Given the description of an element on the screen output the (x, y) to click on. 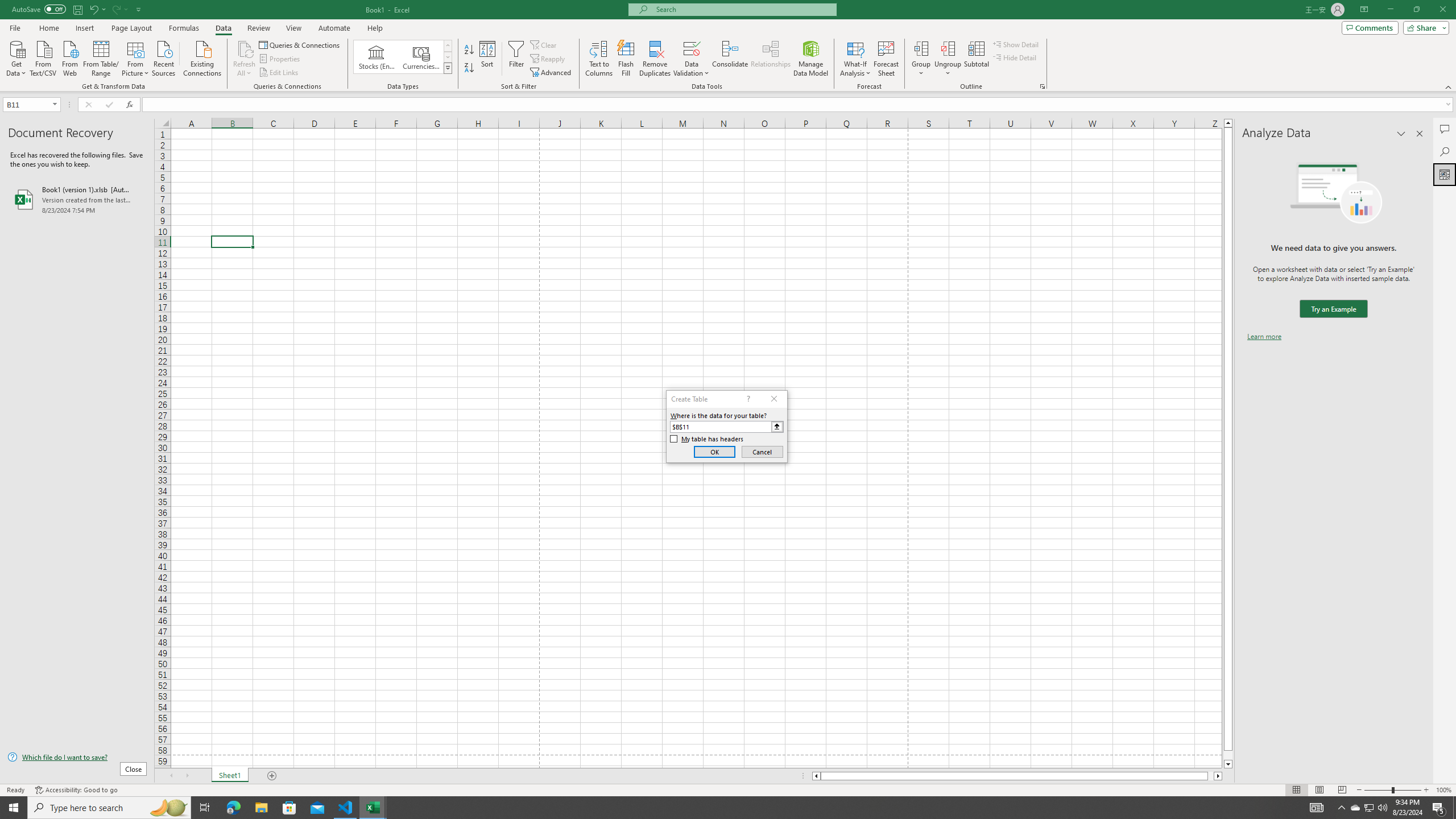
Zoom In (1426, 790)
Search (1444, 151)
Zoom (1392, 790)
Formulas (184, 28)
Share (1423, 27)
Close pane (1419, 133)
Sheet1 (229, 775)
Ungroup... (947, 48)
Page right (1211, 775)
Book1 (version 1).xlsb  [AutoRecovered] (77, 199)
Refresh All (244, 48)
Customize Quick Access Toolbar (139, 9)
Formula Bar (799, 104)
